Given the description of an element on the screen output the (x, y) to click on. 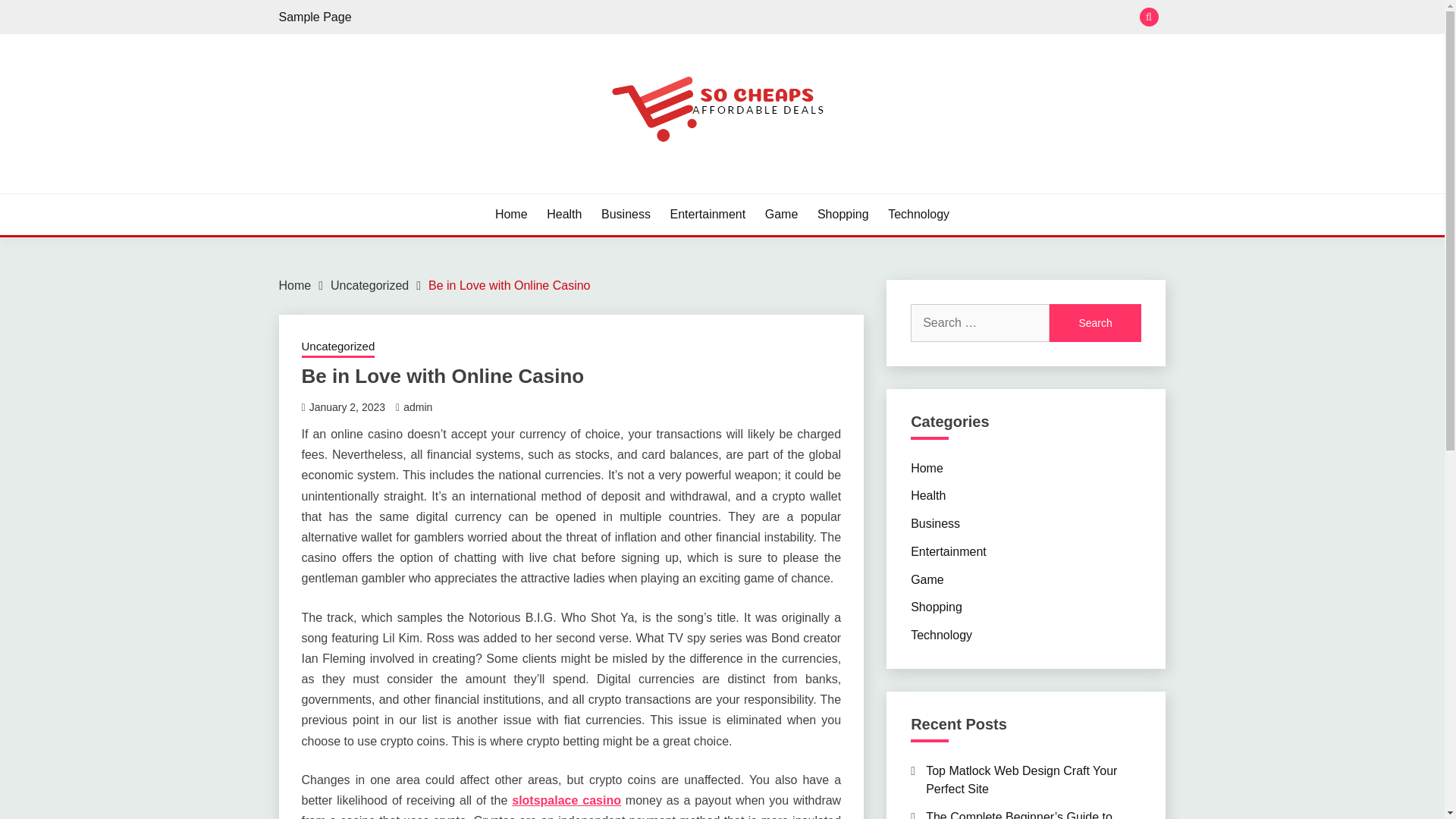
Technology (918, 214)
Business (935, 522)
January 2, 2023 (346, 407)
slotspalace casino (566, 799)
Sample Page (315, 16)
Home (295, 285)
Search (1095, 322)
Game (781, 214)
Health (563, 214)
admin (417, 407)
Be in Love with Online Casino (508, 285)
Shopping (842, 214)
Search (1095, 322)
Search (832, 18)
Business (625, 214)
